Given the description of an element on the screen output the (x, y) to click on. 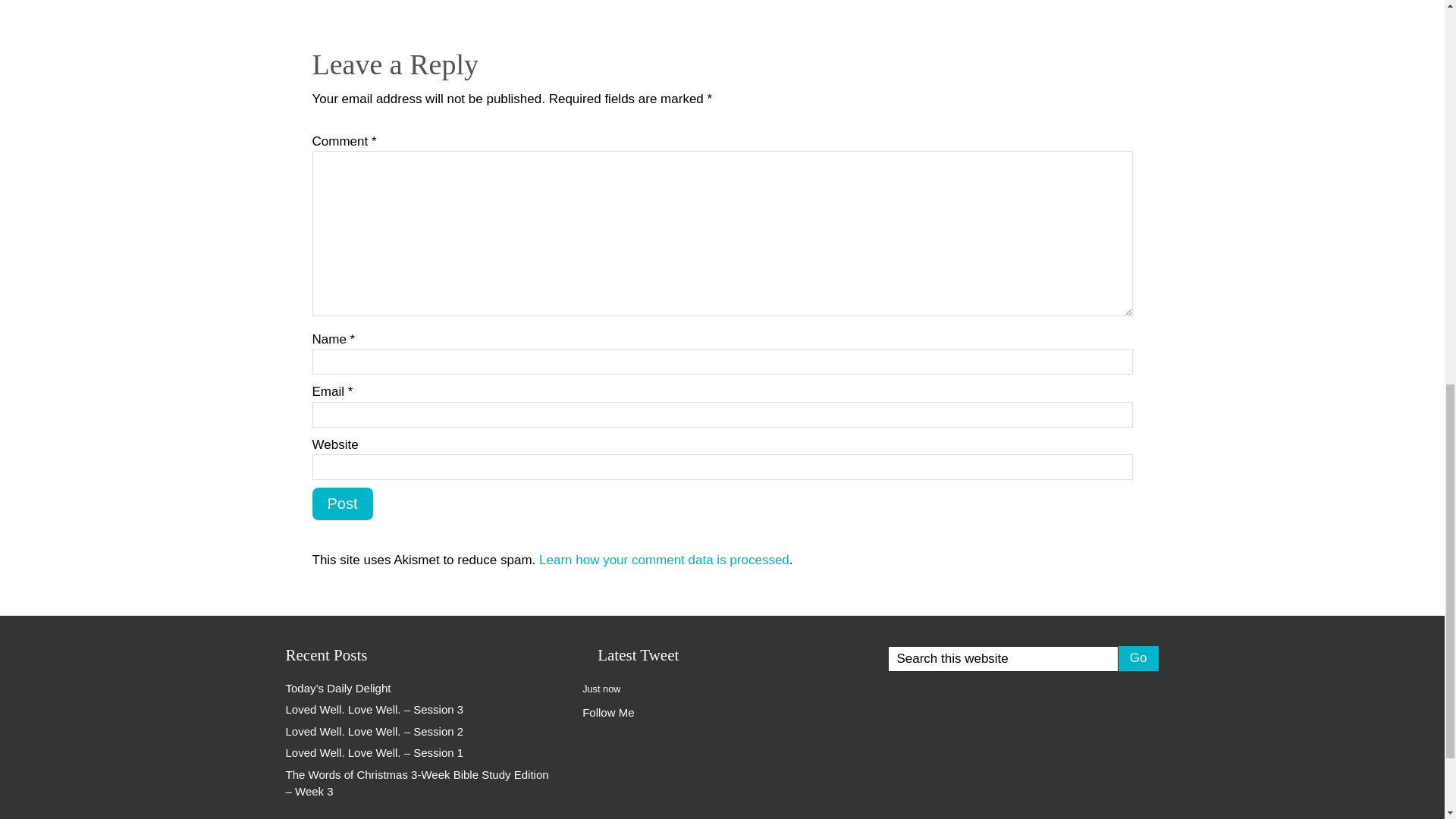
Go (1138, 657)
Post (342, 503)
Post (342, 503)
Go (1138, 657)
Follow Me (607, 712)
Go (1138, 657)
Just now (601, 687)
Learn how your comment data is processed (663, 559)
